Given the description of an element on the screen output the (x, y) to click on. 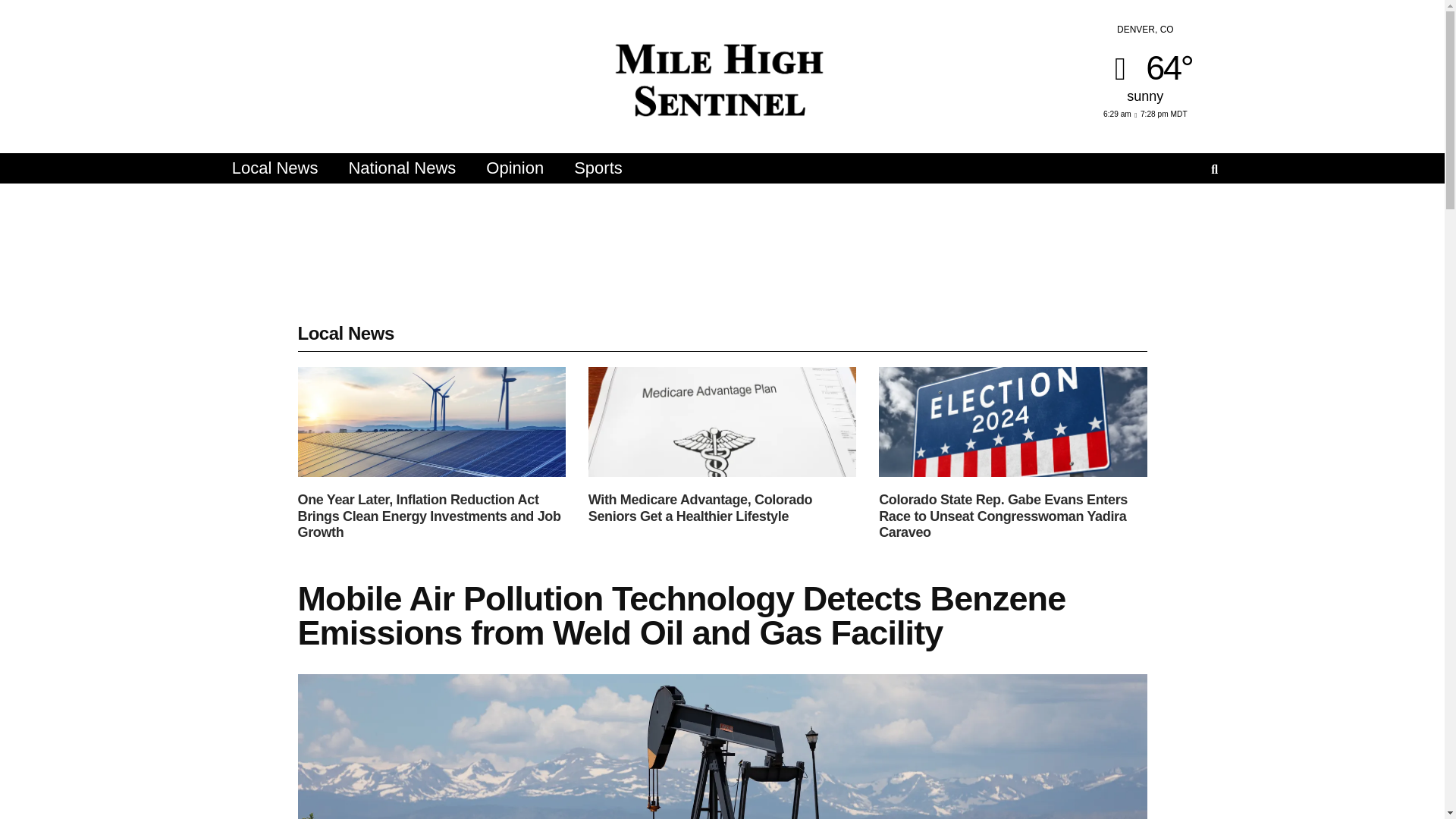
Sports (598, 168)
National News (401, 168)
Local News (274, 168)
Opinion (514, 168)
